Given the description of an element on the screen output the (x, y) to click on. 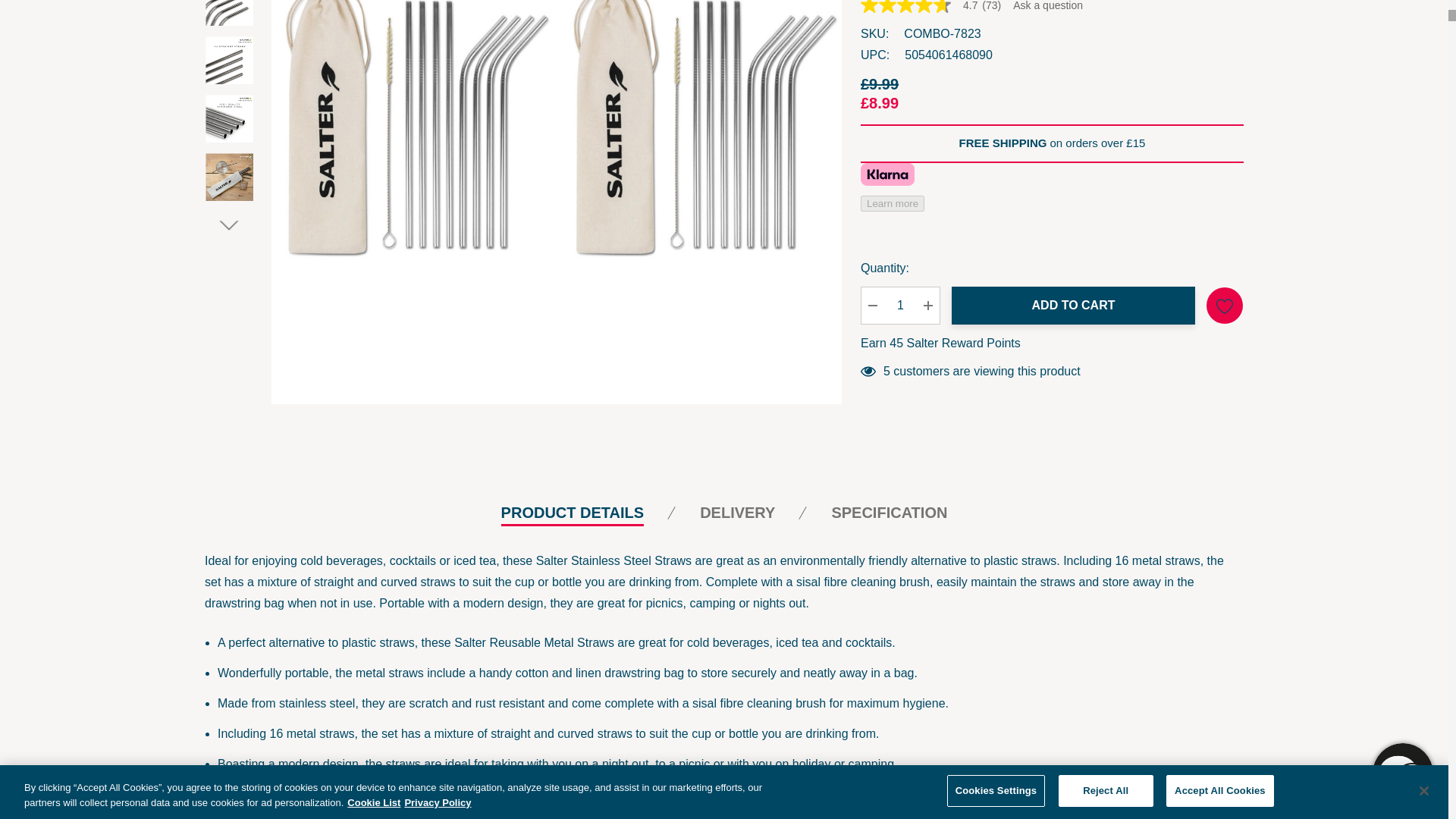
1 (900, 217)
